Given the description of an element on the screen output the (x, y) to click on. 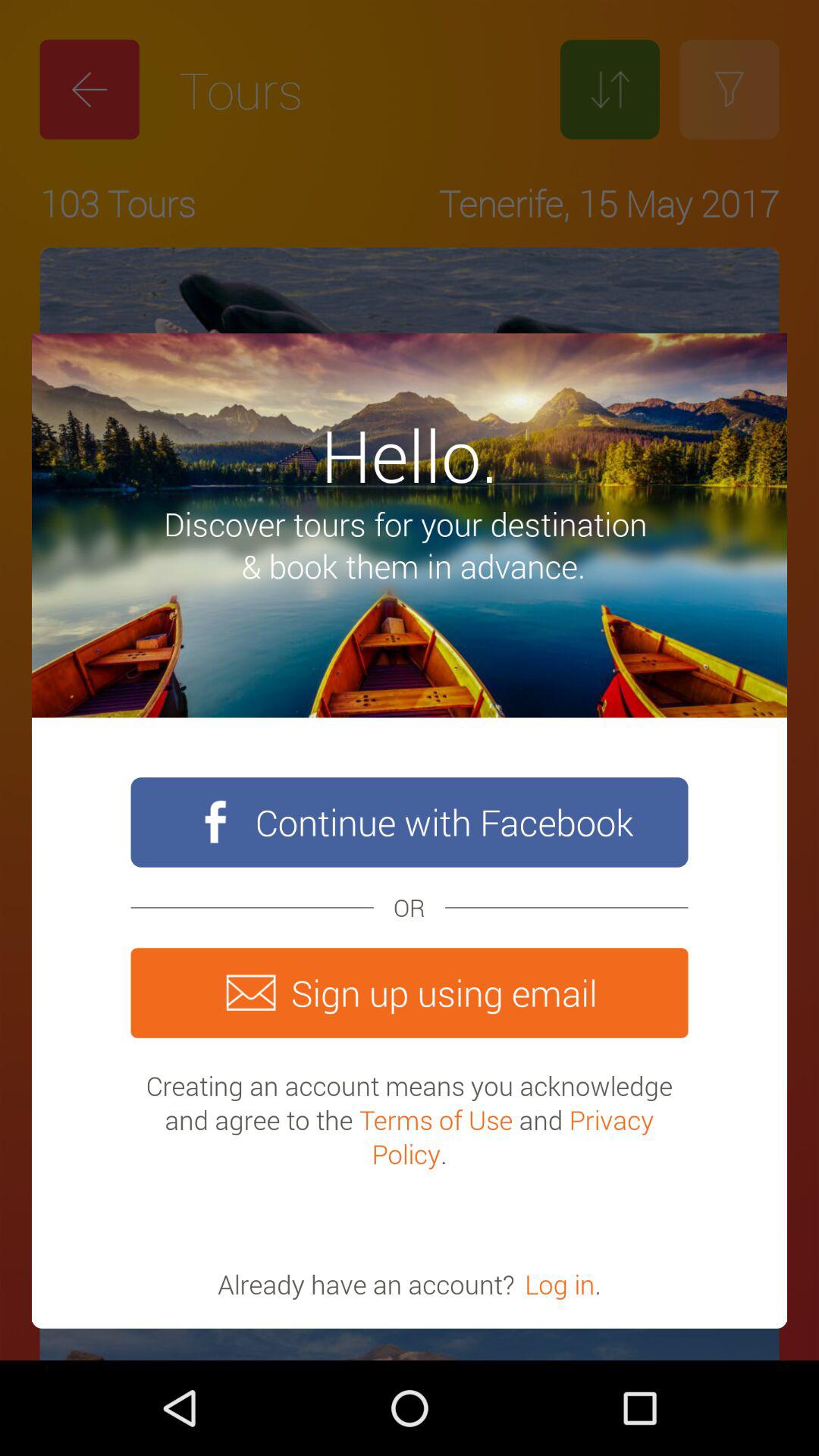
tap the icon next to already have an item (559, 1283)
